Given the description of an element on the screen output the (x, y) to click on. 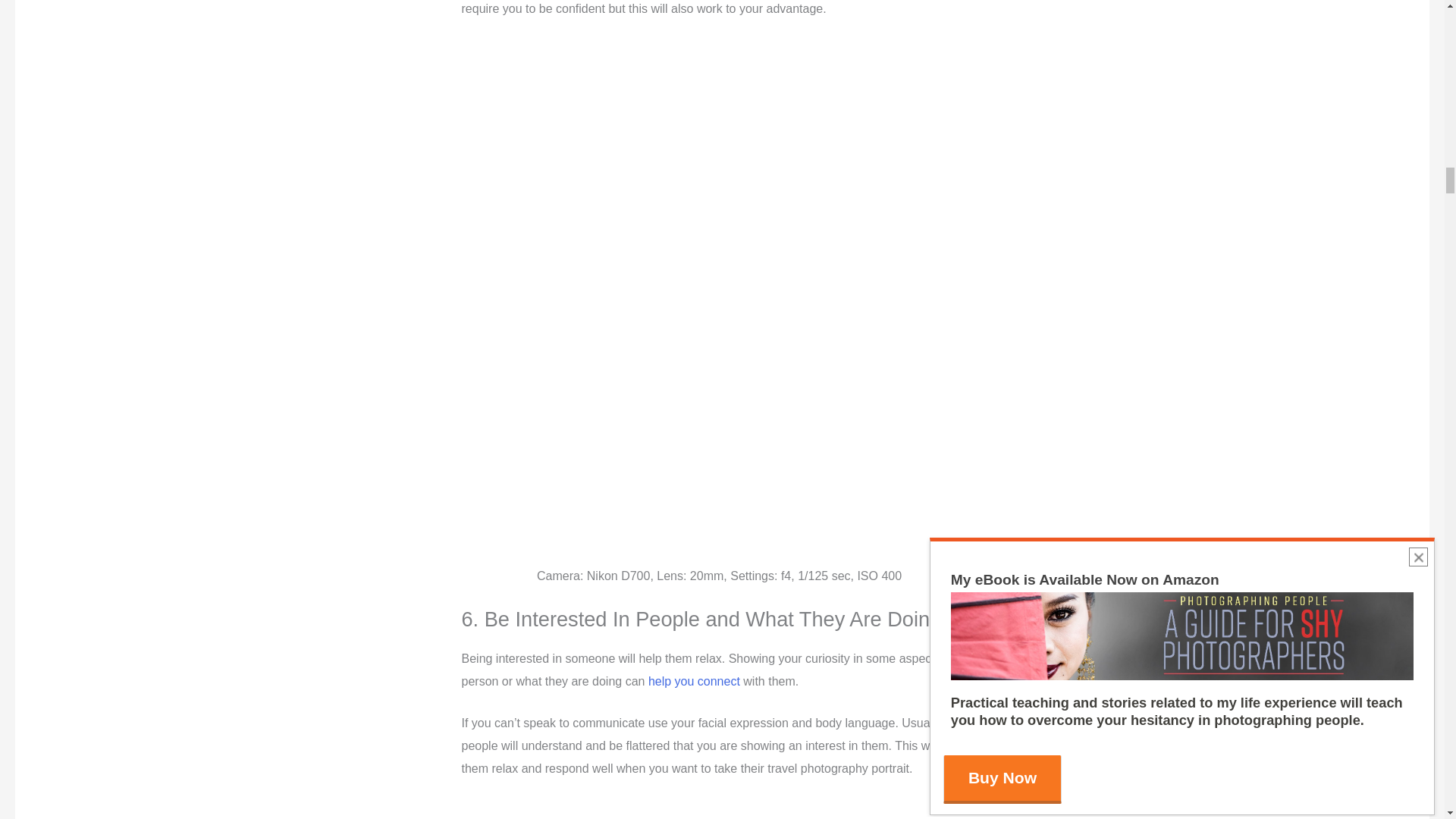
help you connect (693, 680)
